Given the description of an element on the screen output the (x, y) to click on. 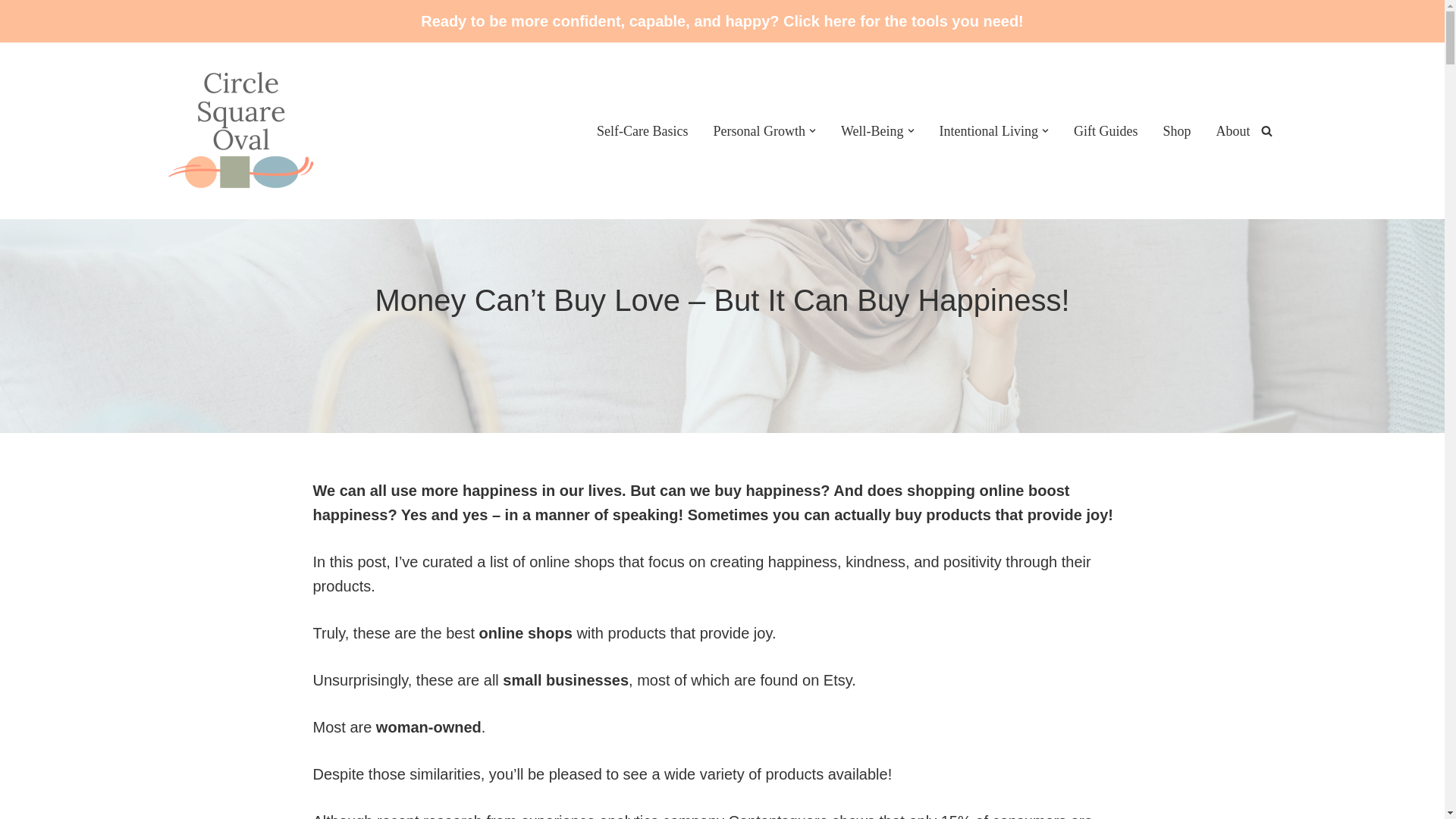
Self-Care Basics (641, 130)
Personal Growth (759, 130)
Skip to content (11, 31)
Gift Guides (1106, 130)
Well-Being (872, 130)
Intentional Living (987, 130)
Shop (1176, 130)
About (1232, 130)
